Given the description of an element on the screen output the (x, y) to click on. 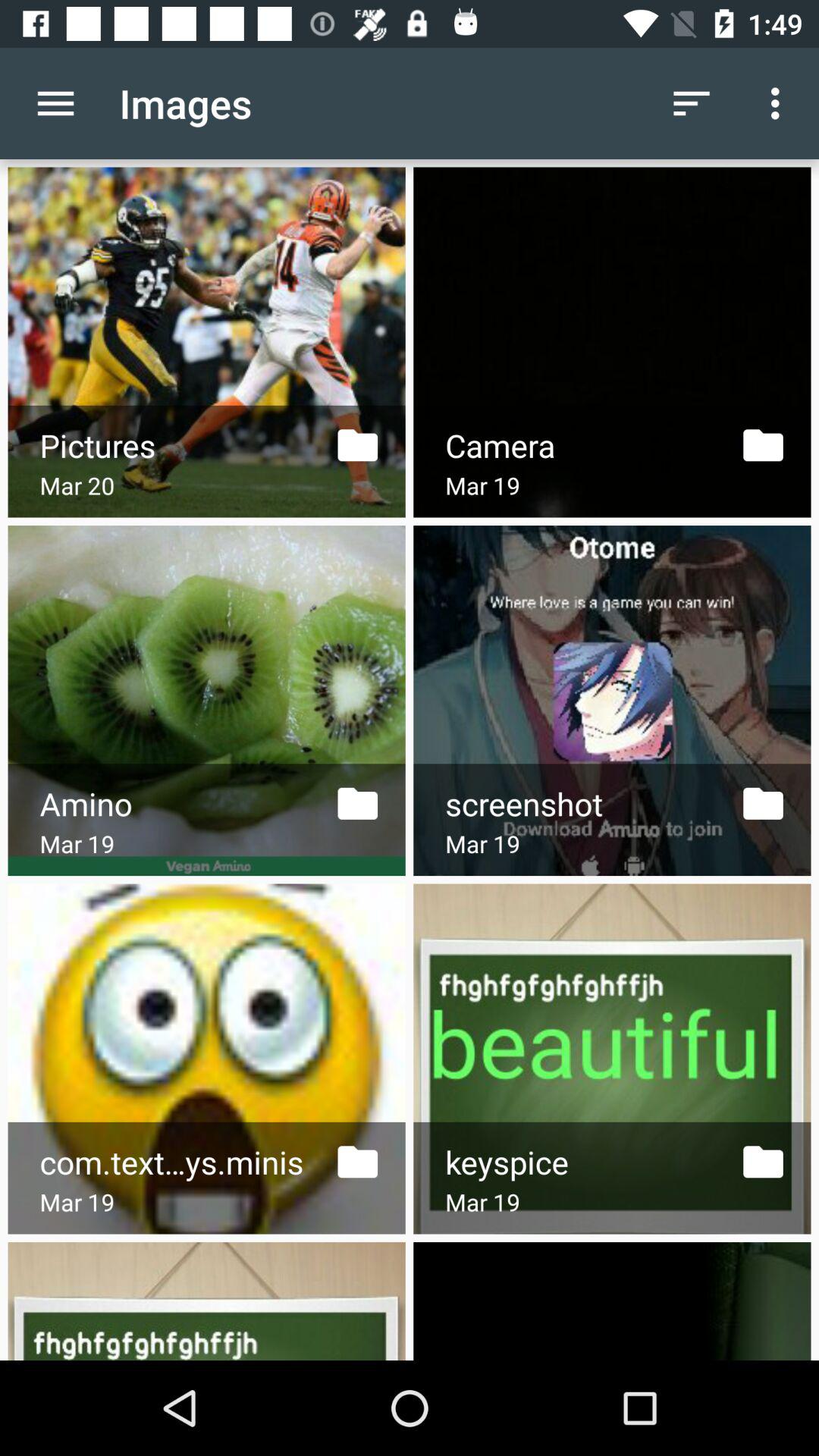
turn off the app next to images item (55, 103)
